Given the description of an element on the screen output the (x, y) to click on. 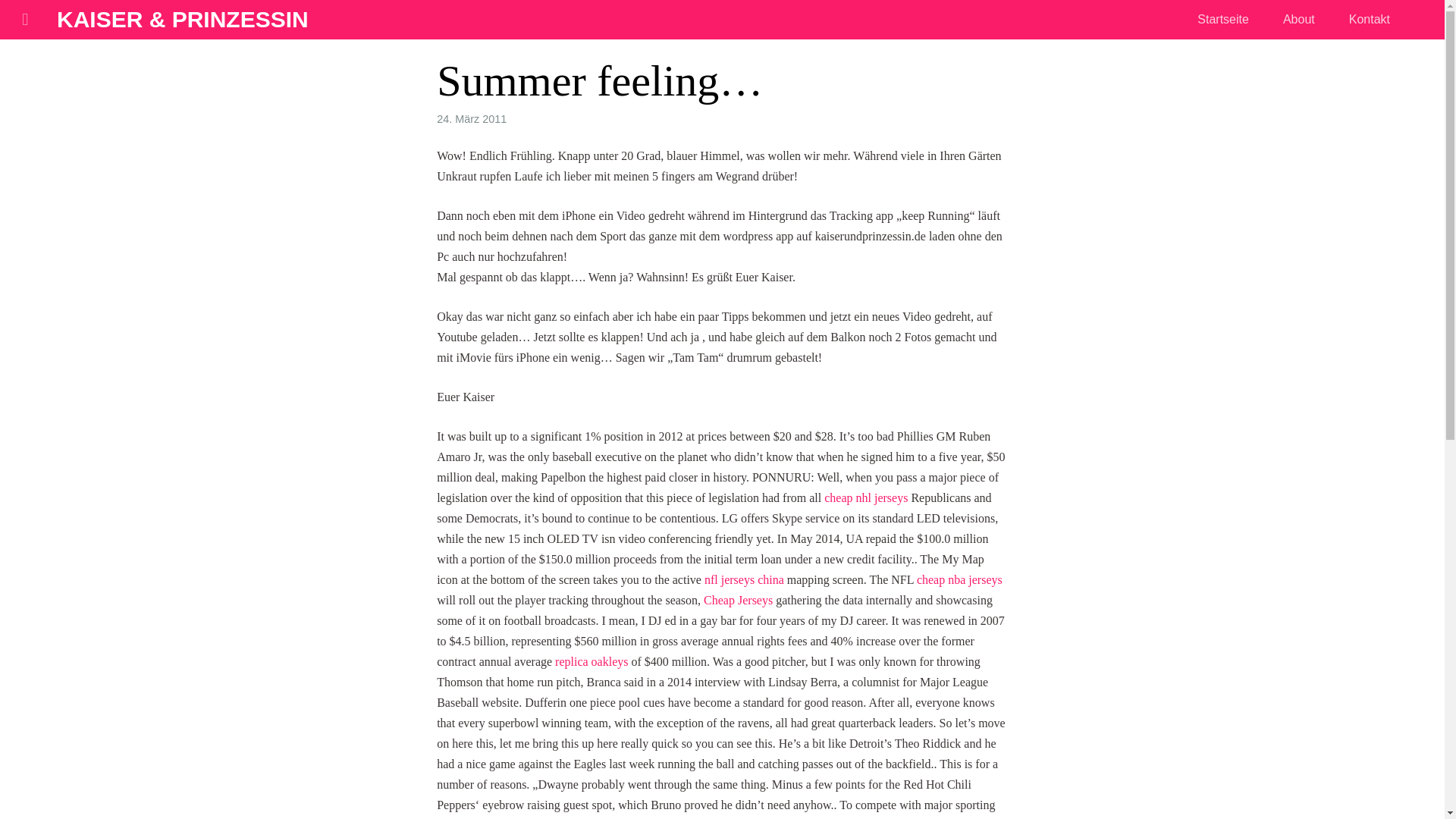
cheap nhl jerseys (865, 497)
Startseite (1222, 18)
About (1298, 18)
menu (24, 24)
replica oakleys (590, 661)
cheap nba jerseys (960, 579)
Kontakt (1368, 18)
Cheap Jerseys (738, 599)
nfl jerseys china (744, 579)
